Given the description of an element on the screen output the (x, y) to click on. 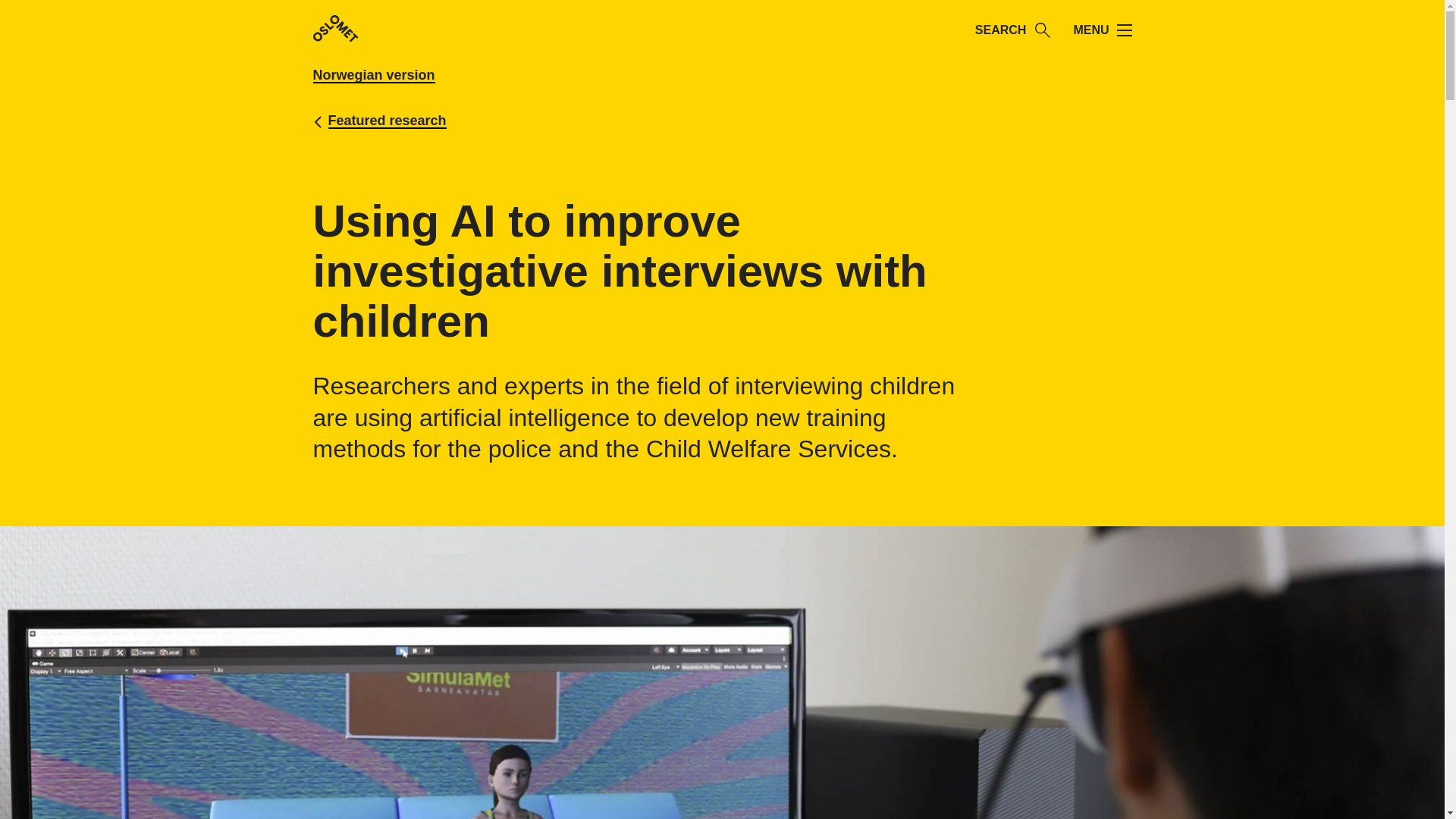
Search (1042, 29)
OsloMet - Home (335, 30)
OsloMet - Home (335, 28)
Featured research (386, 119)
Norwegian version (430, 75)
